Given the description of an element on the screen output the (x, y) to click on. 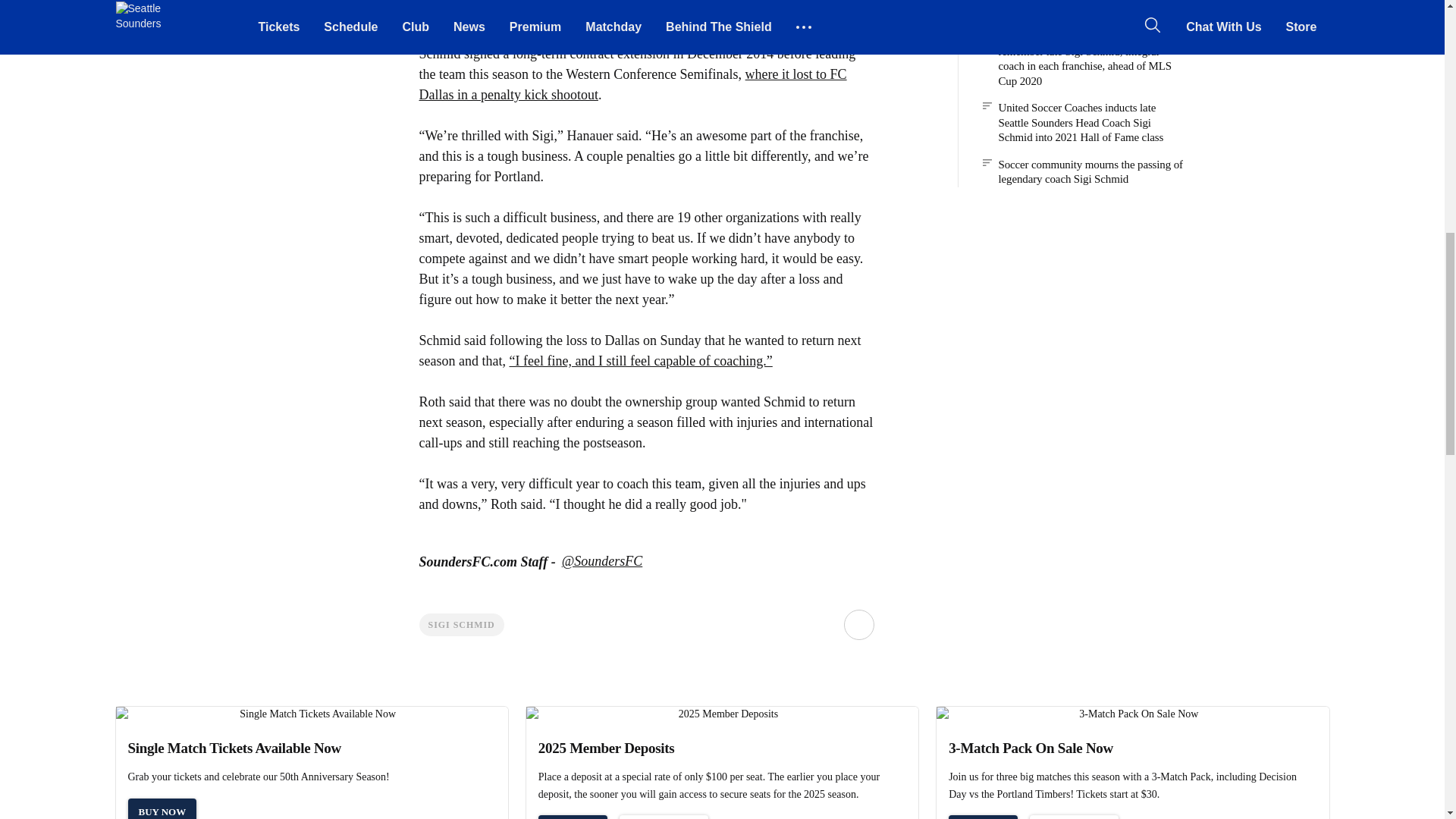
Go to the Twitter profile (602, 562)
BUY NOW (162, 808)
LEARN MORE (1073, 816)
BUY NOW (983, 816)
LEARN MORE (663, 816)
BUY NOW (572, 816)
